Given the description of an element on the screen output the (x, y) to click on. 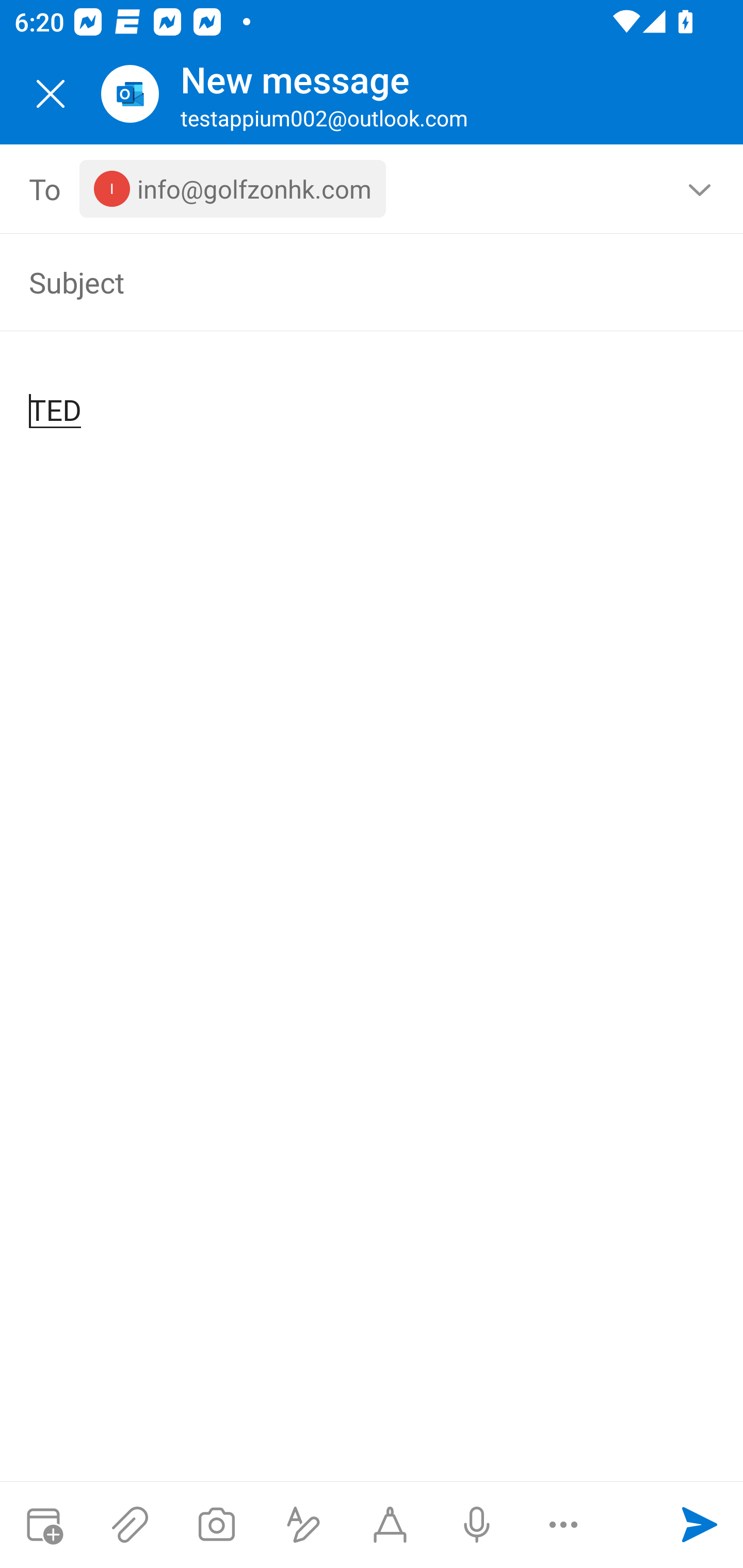
Close (50, 93)
Subject (342, 281)

TED (372, 394)
Attach meeting (43, 1524)
Attach files (129, 1524)
Take a photo (216, 1524)
Show formatting options (303, 1524)
Start Ink compose (389, 1524)
Dictation (476, 1524)
More options (563, 1524)
Send (699, 1524)
